Given the description of an element on the screen output the (x, y) to click on. 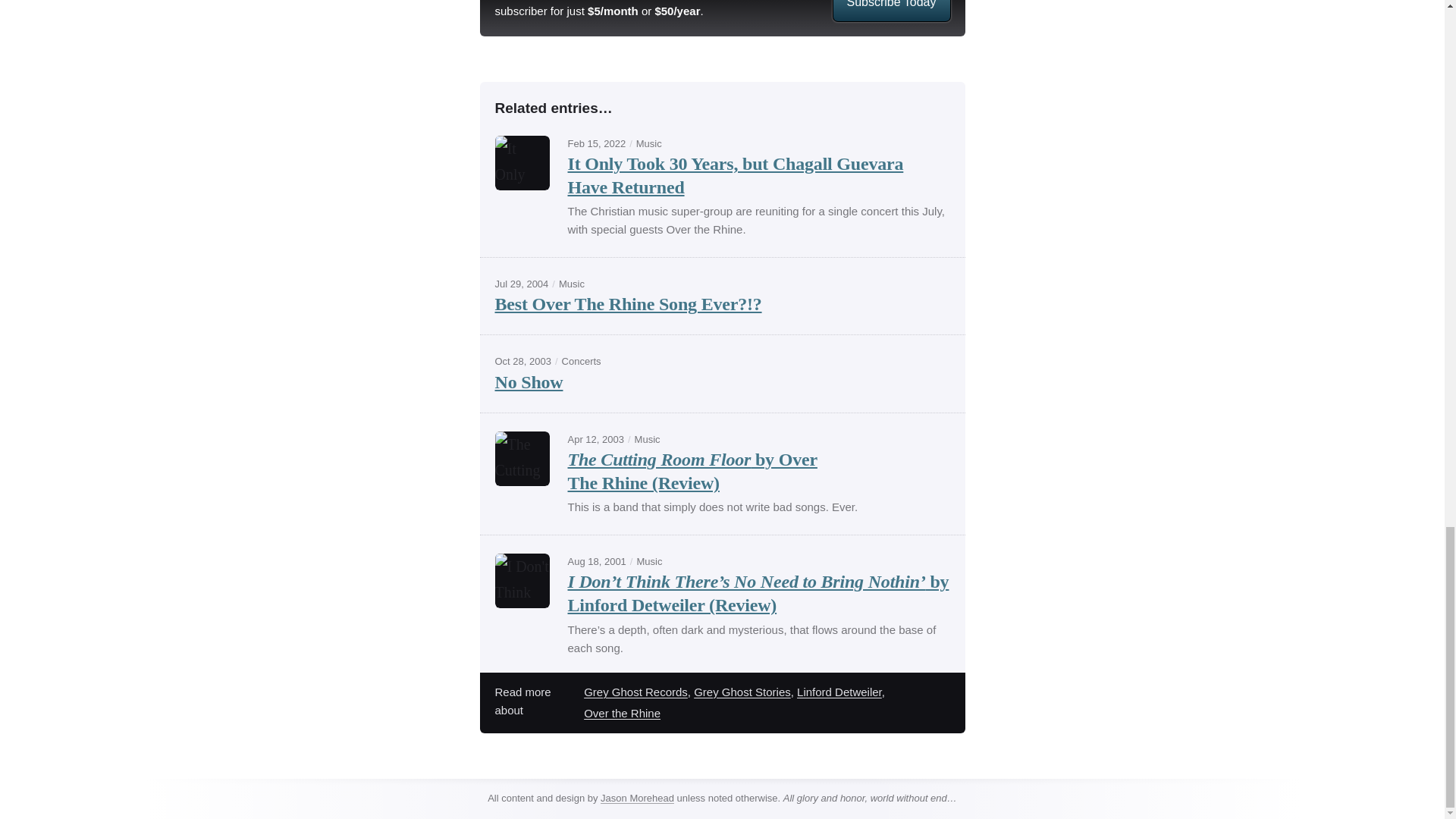
Grey Ghost Records (635, 691)
Grey Ghost Stories (742, 691)
Oct 28, 2003 (522, 360)
Subscribe Today (890, 10)
Music (649, 561)
Concerts (581, 360)
Music (647, 439)
Aug 18, 2001 (596, 561)
Over the Rhine (622, 712)
Music (572, 283)
